Given the description of an element on the screen output the (x, y) to click on. 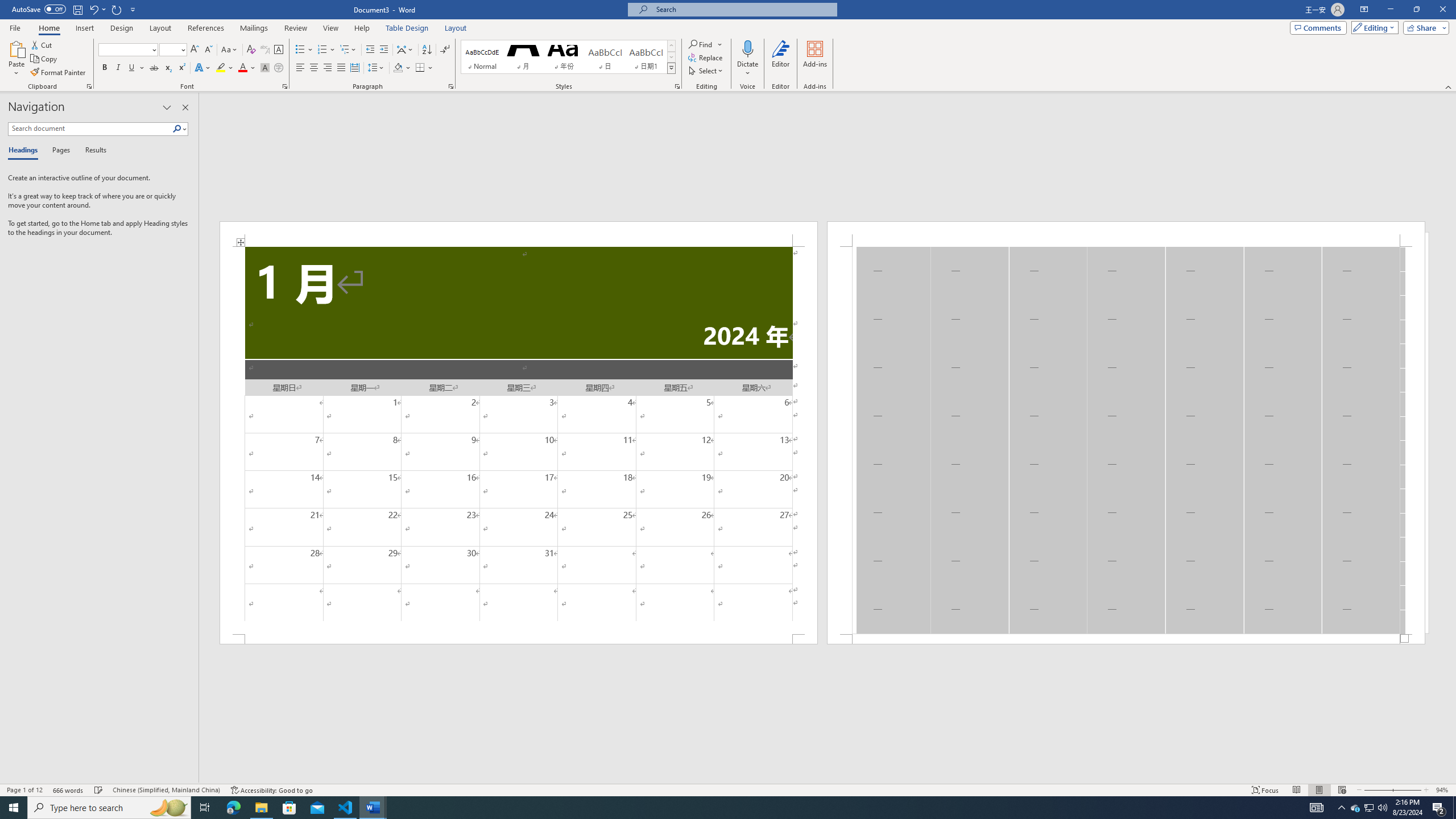
Language Chinese (Simplified, Mainland China) (165, 790)
Microsoft search (742, 9)
Office Clipboard... (88, 85)
Table Design (407, 28)
Design (122, 28)
Bullets (304, 49)
View (330, 28)
Task Pane Options (167, 107)
Format Painter (58, 72)
Character Shading (264, 67)
Print Layout (1318, 790)
Row Down (670, 56)
Font Size (169, 49)
Close pane (185, 107)
